Given the description of an element on the screen output the (x, y) to click on. 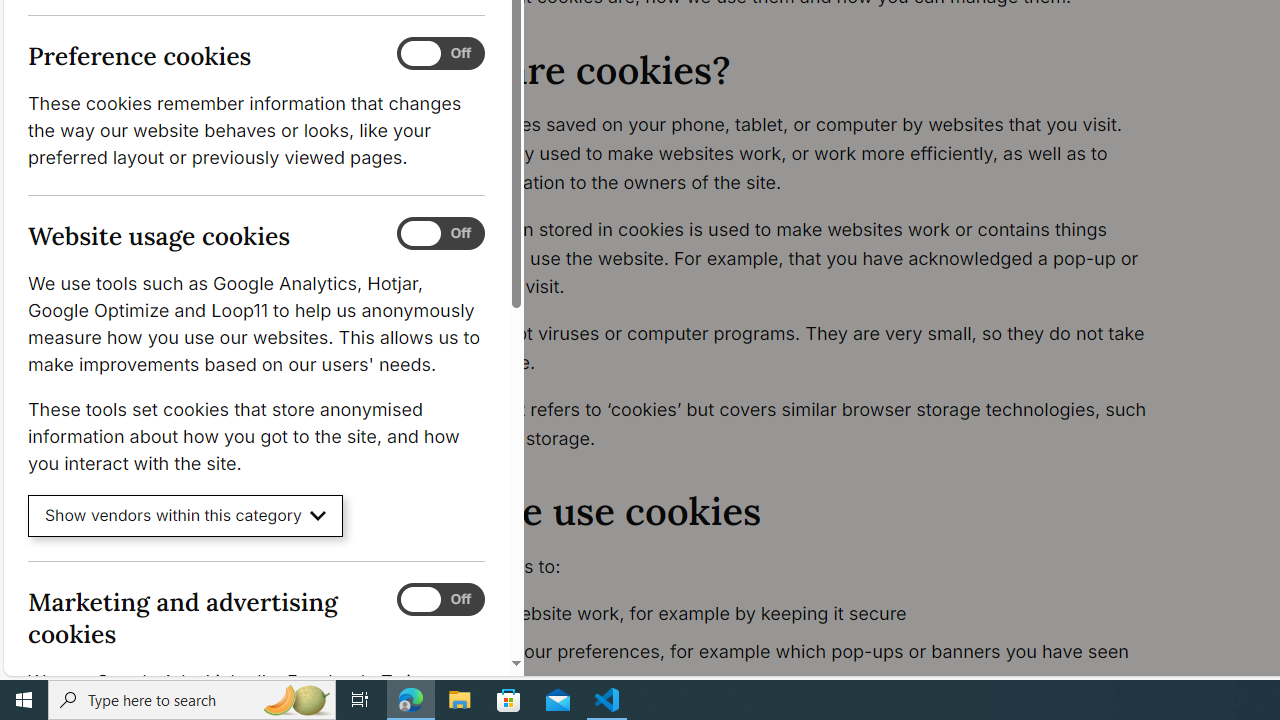
Website usage cookies (440, 233)
Marketing and advertising cookies (440, 599)
Preference cookies (440, 53)
Show vendors within this category (185, 516)
make our website work, for example by keeping it secure (796, 614)
